Given the description of an element on the screen output the (x, y) to click on. 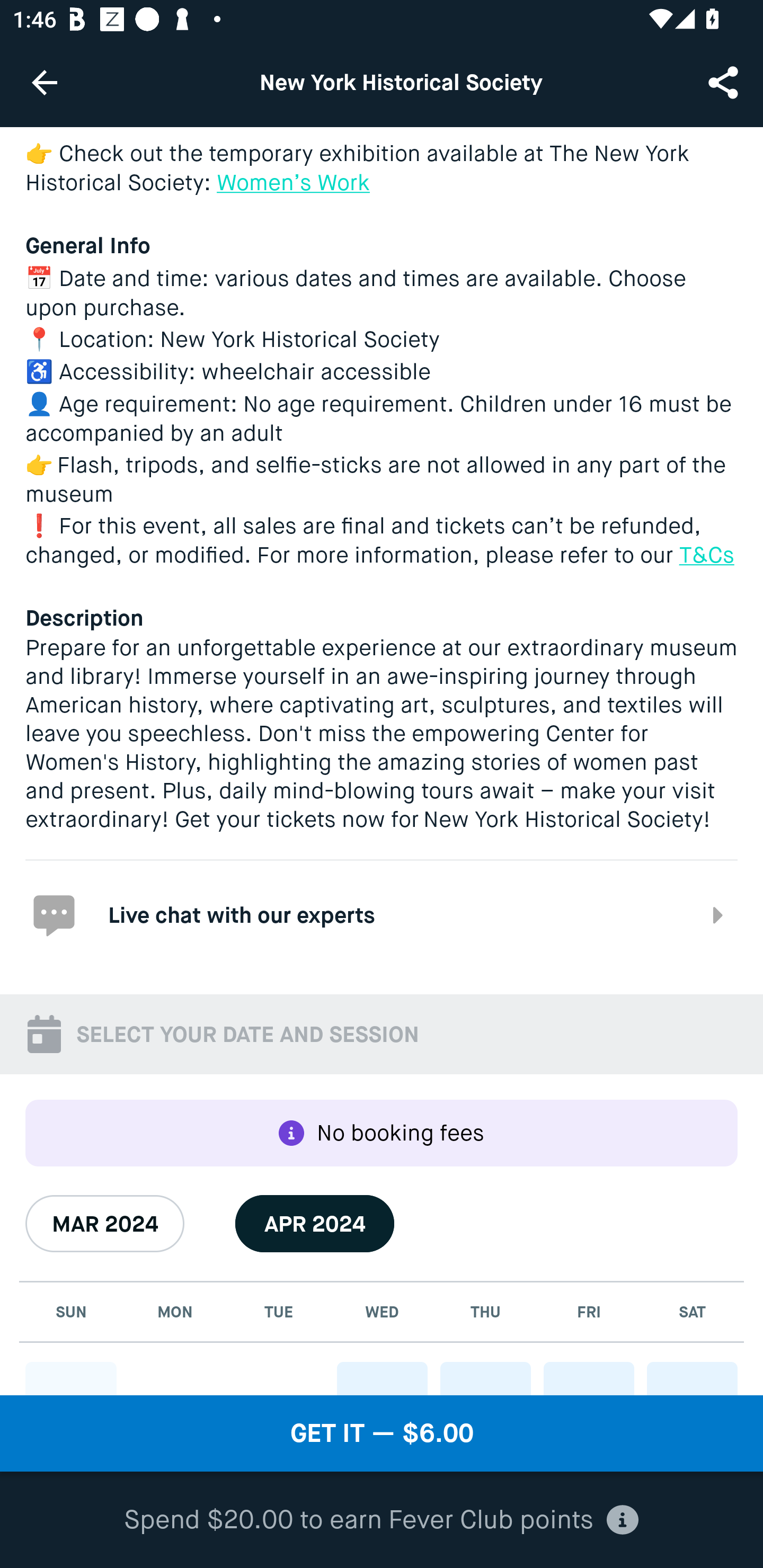
Navigate up (44, 82)
Share (724, 81)
Live chat with our experts (381, 914)
MAR 2024 (104, 1223)
APR 2024 (314, 1223)
GET IT — $6.00 (381, 1433)
Spend $20.00 to earn Fever Club points (381, 1519)
